Given the description of an element on the screen output the (x, y) to click on. 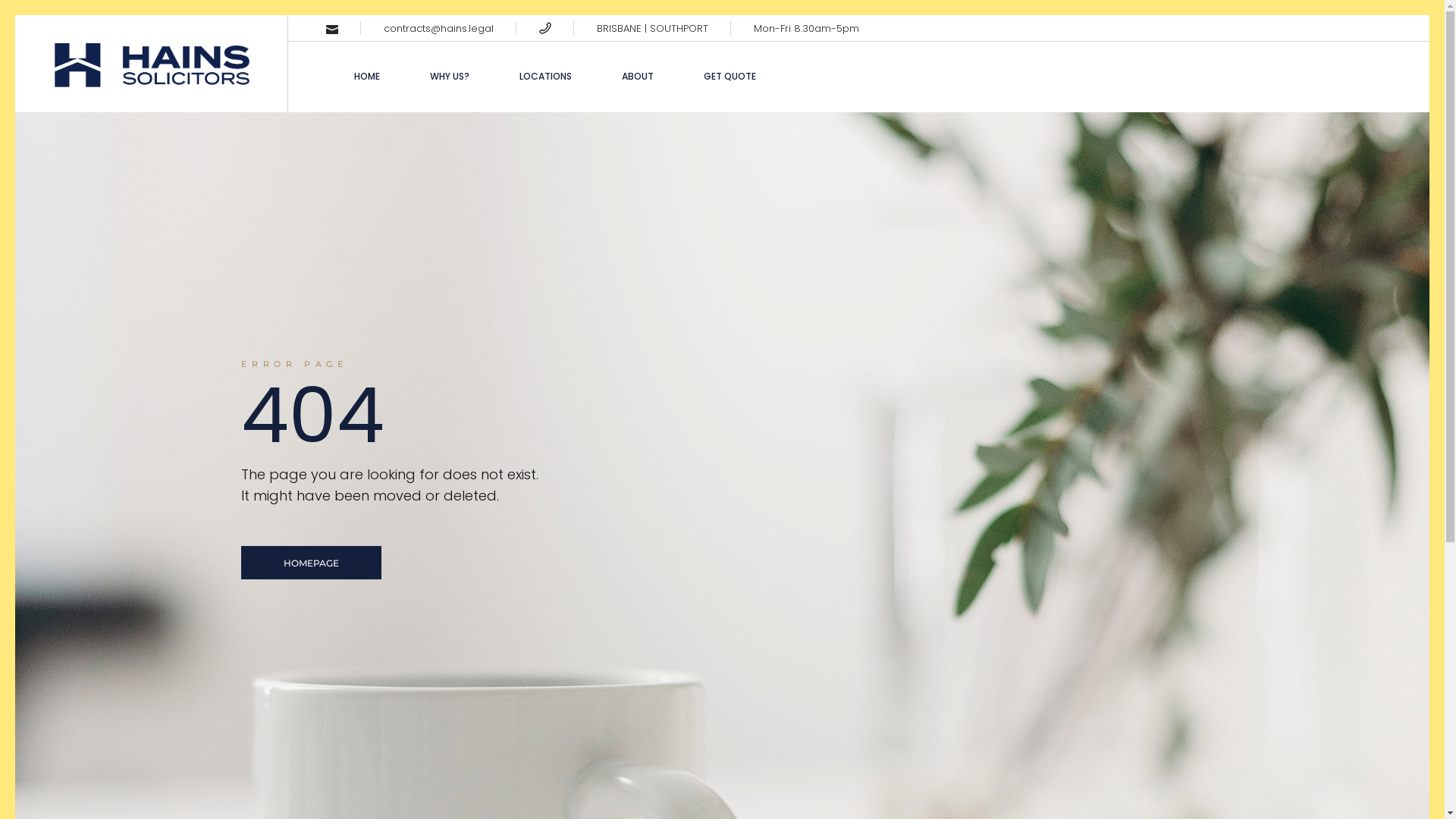
LOCATIONS Element type: text (545, 76)
SOUTHPORT Element type: text (678, 28)
contracts@hains.legal Element type: text (438, 28)
BRISBANE | Element type: text (622, 28)
WHY US? Element type: text (449, 76)
HOMEPAGE Element type: text (311, 562)
HOME Element type: text (366, 76)
ABOUT Element type: text (637, 76)
GET QUOTE Element type: text (729, 76)
Skip to the content Element type: text (14, 14)
